Given the description of an element on the screen output the (x, y) to click on. 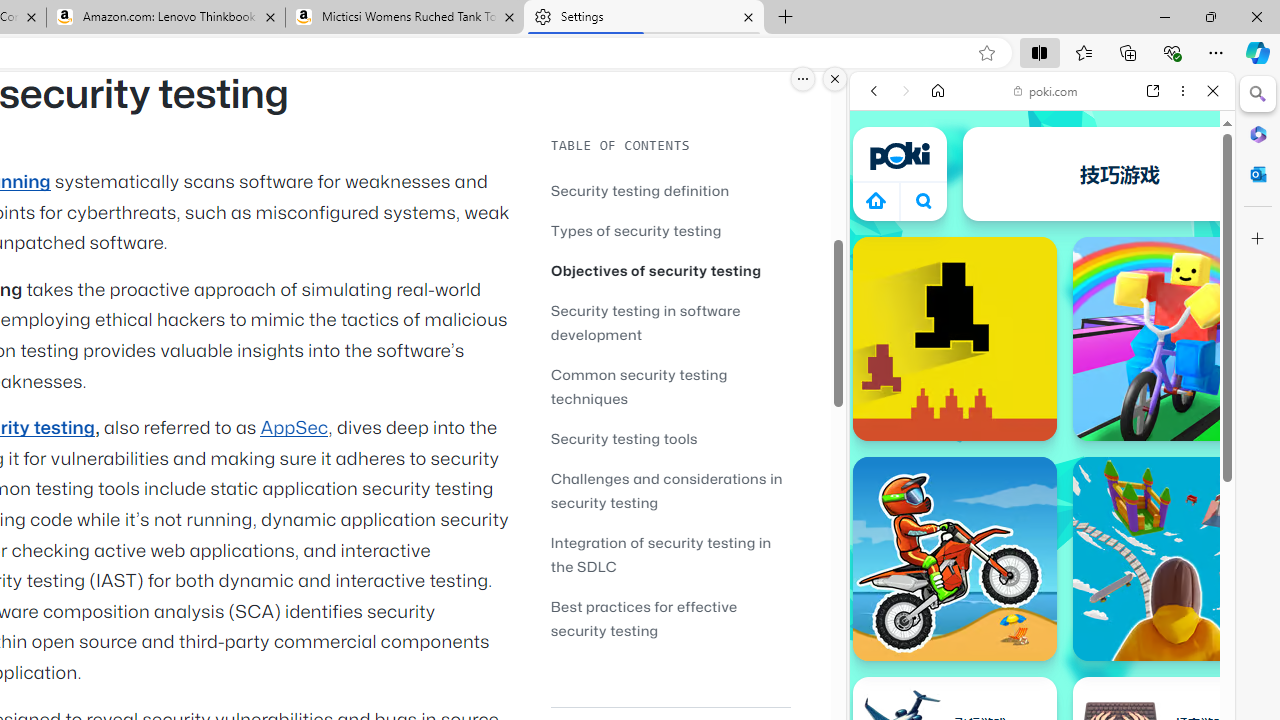
Security testing in software development (670, 322)
Level Devil Level Devil (954, 338)
Poki - Free Online Games - Play Now! (1034, 309)
